Given the description of an element on the screen output the (x, y) to click on. 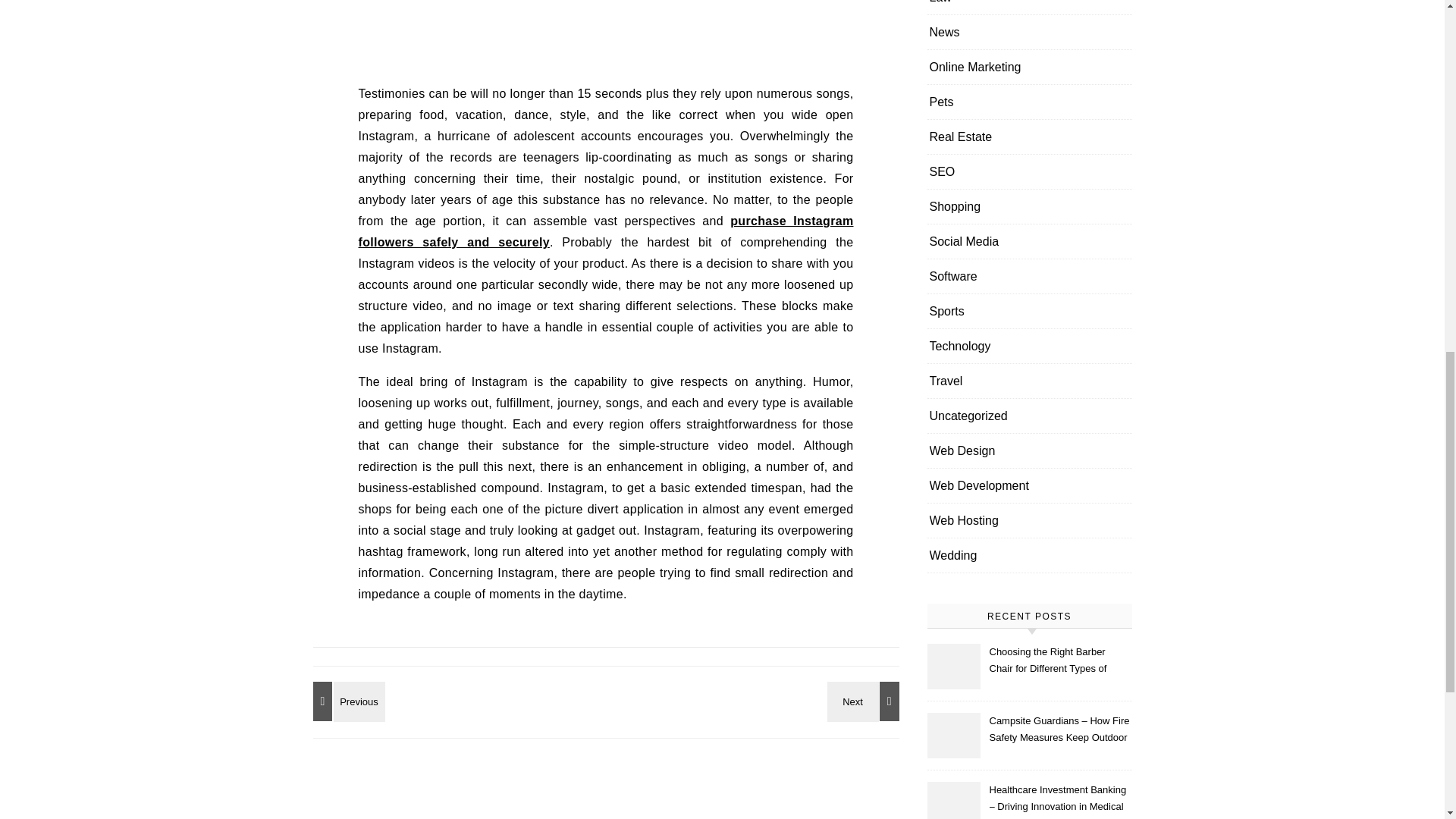
Law (941, 7)
purchase Instagram followers safely and securely (605, 231)
Mesotherapy Gun Procedure - An Organic Solution (346, 701)
Sports Supplements for Building Strong Bones in Bodybuilding (865, 701)
